Given the description of an element on the screen output the (x, y) to click on. 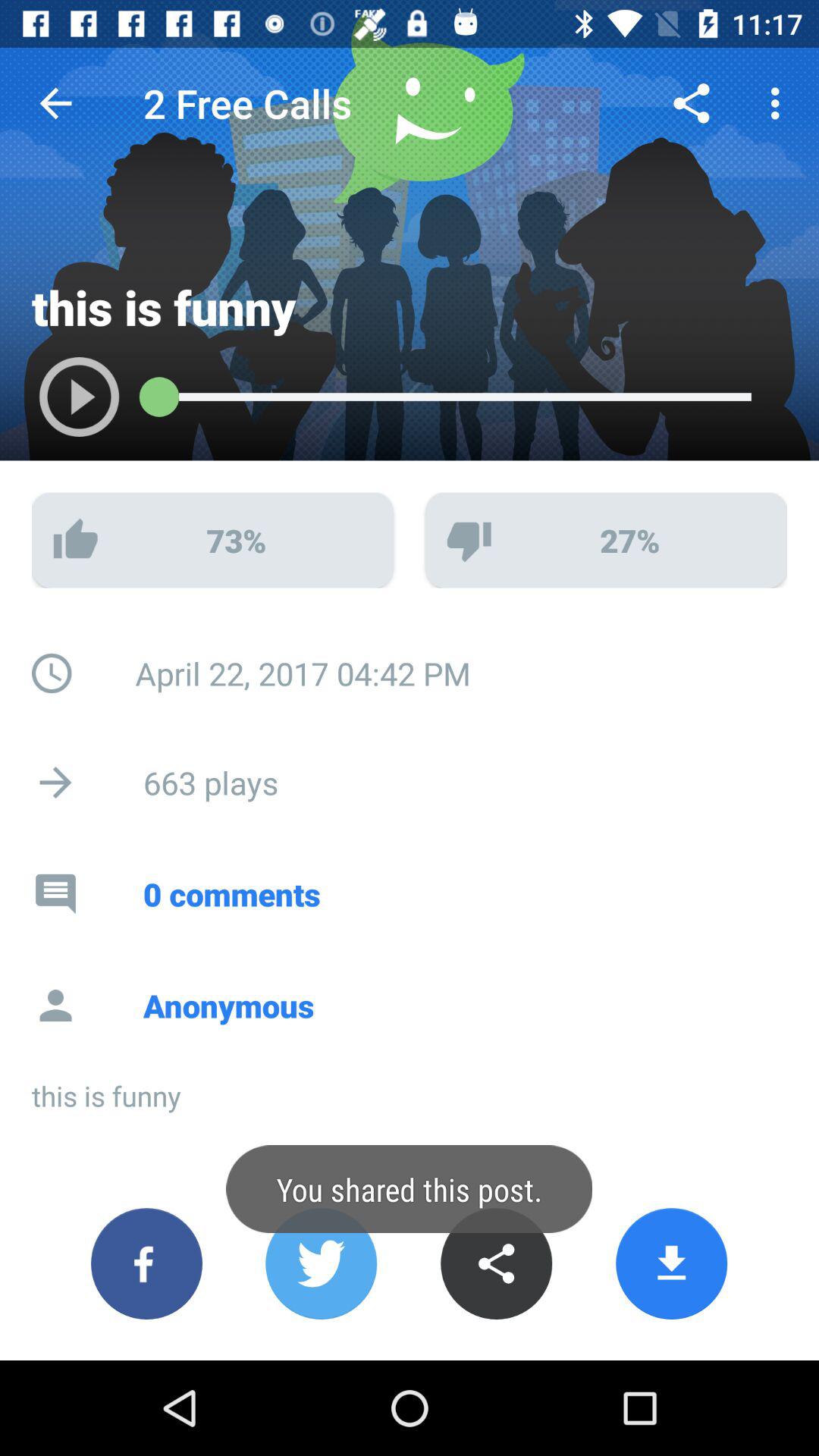
share (496, 1263)
